Given the description of an element on the screen output the (x, y) to click on. 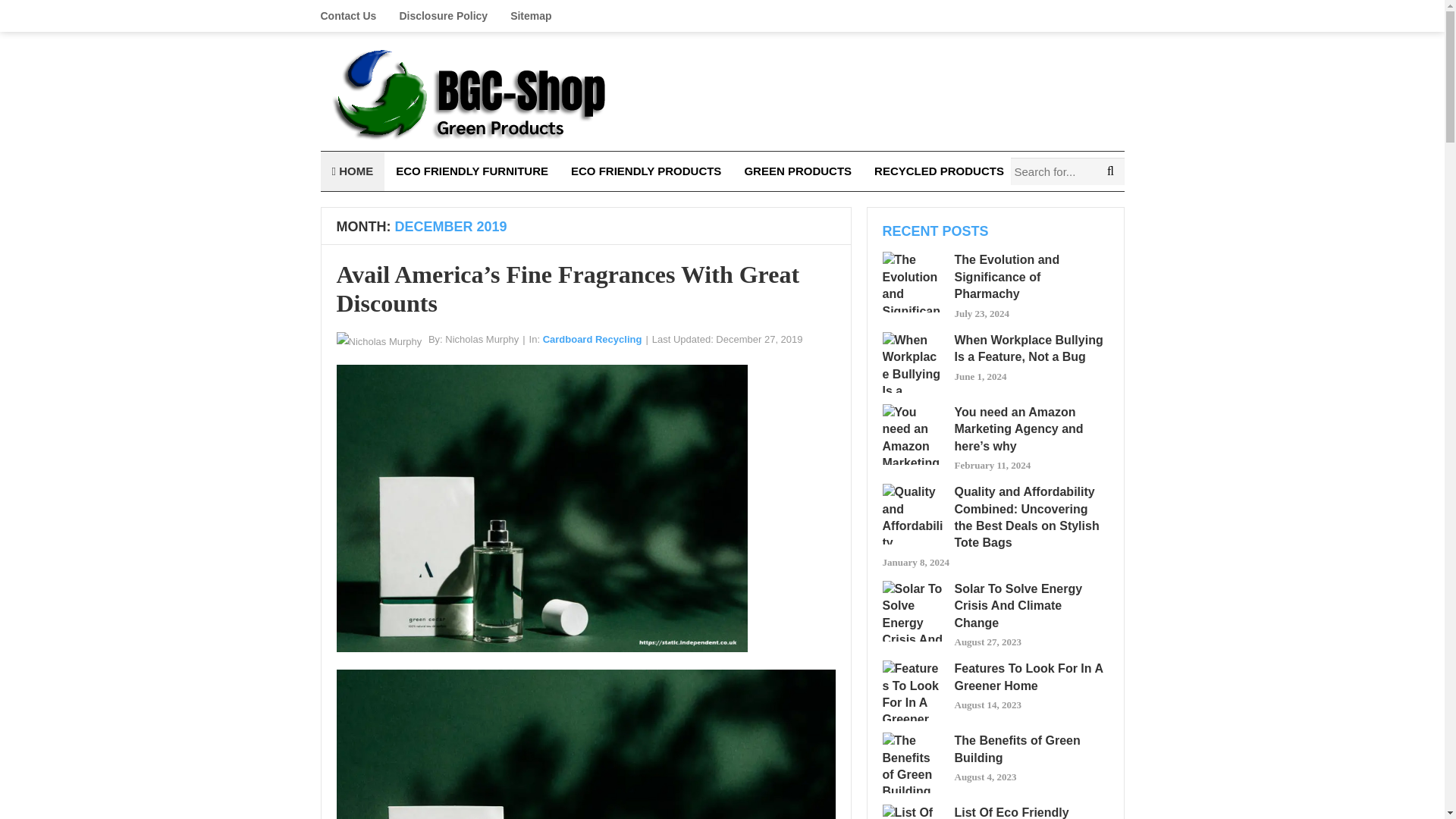
Sitemap (530, 15)
ECO FRIENDLY FURNITURE (471, 170)
RECYCLED PRODUCTS (938, 170)
Contact Us (353, 15)
ECO FRIENDLY PRODUCTS (645, 170)
Nicholas Murphy (481, 338)
Disclosure Policy (443, 15)
Cardboard Recycling (592, 338)
HOME (352, 170)
GREEN PRODUCTS (797, 170)
